Given the description of an element on the screen output the (x, y) to click on. 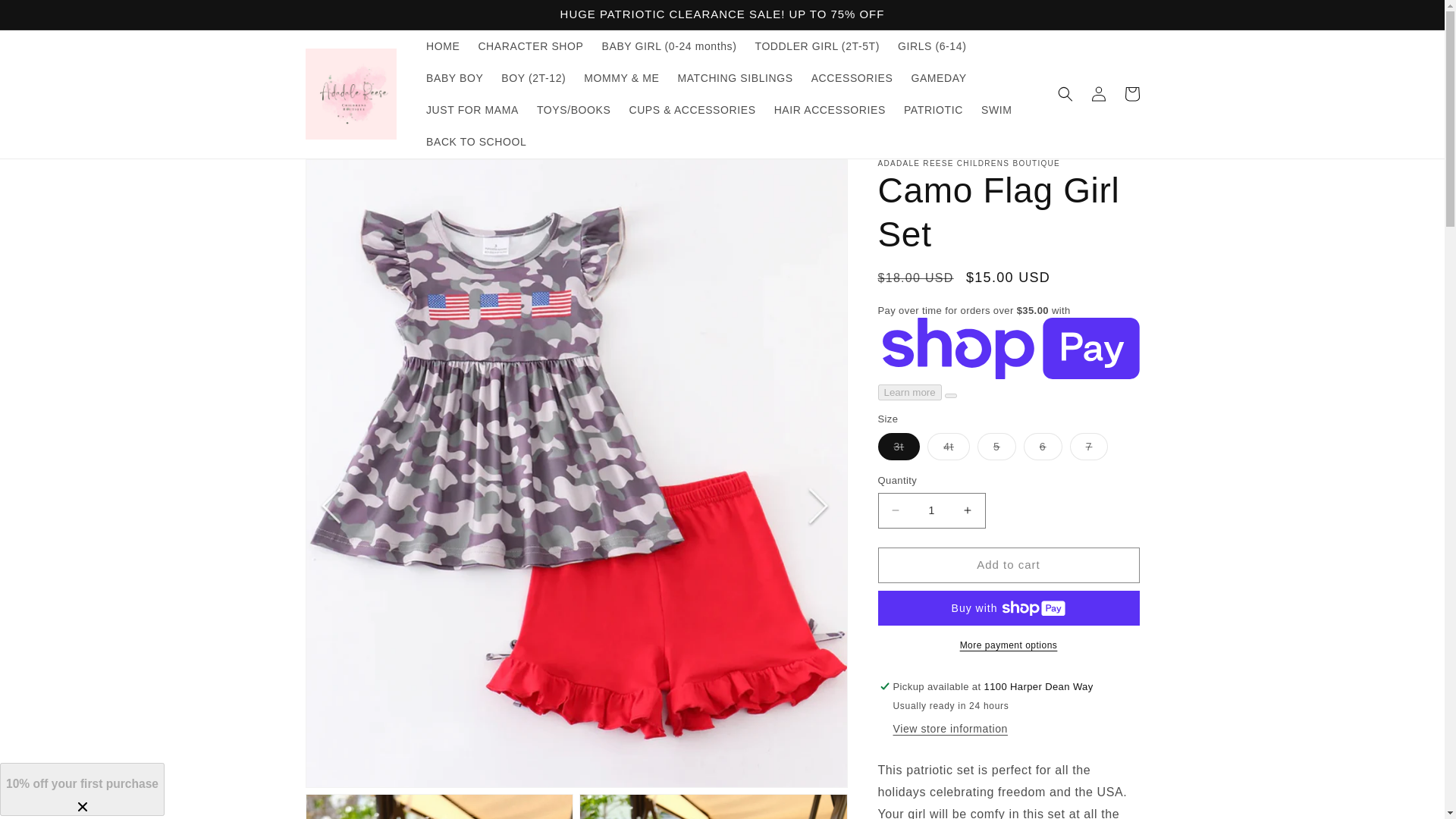
PATRIOTIC (933, 110)
HAIR ACCESSORIES (830, 110)
Skip to content (45, 17)
BACK TO SCHOOL (475, 142)
CHARACTER SHOP (530, 46)
ACCESSORIES (852, 78)
SWIM (997, 110)
MATCHING SIBLINGS (735, 78)
JUST FOR MAMA (471, 110)
HOME (442, 46)
1 (931, 510)
